Given the description of an element on the screen output the (x, y) to click on. 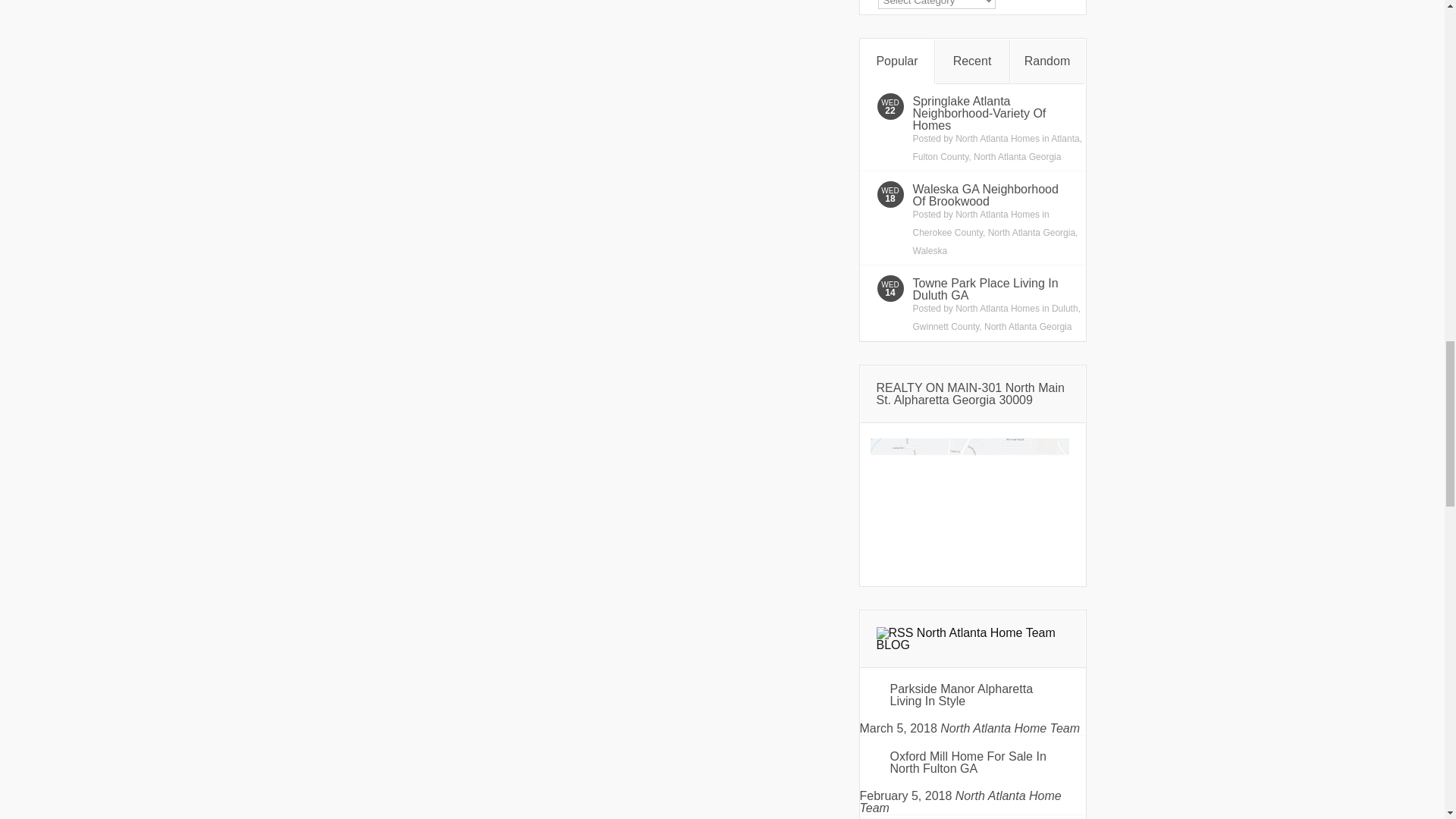
Posts by North Atlanta Homes (997, 308)
Posts by North Atlanta Homes (997, 138)
678-540-4000 (969, 503)
Posts by North Atlanta Homes (997, 214)
